Given the description of an element on the screen output the (x, y) to click on. 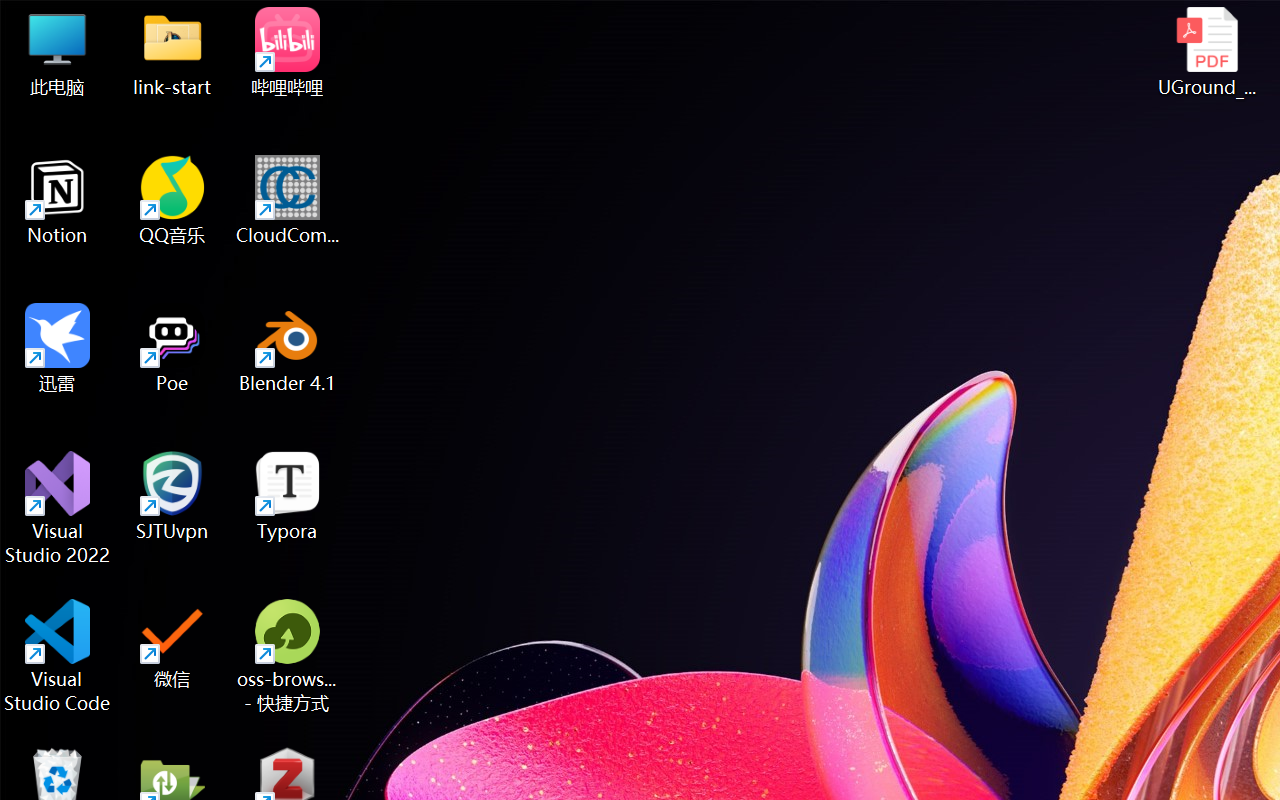
Typora (287, 496)
CloudCompare (287, 200)
Visual Studio Code (57, 656)
UGround_paper.pdf (1206, 52)
Visual Studio 2022 (57, 508)
Blender 4.1 (287, 348)
SJTUvpn (172, 496)
